Given the description of an element on the screen output the (x, y) to click on. 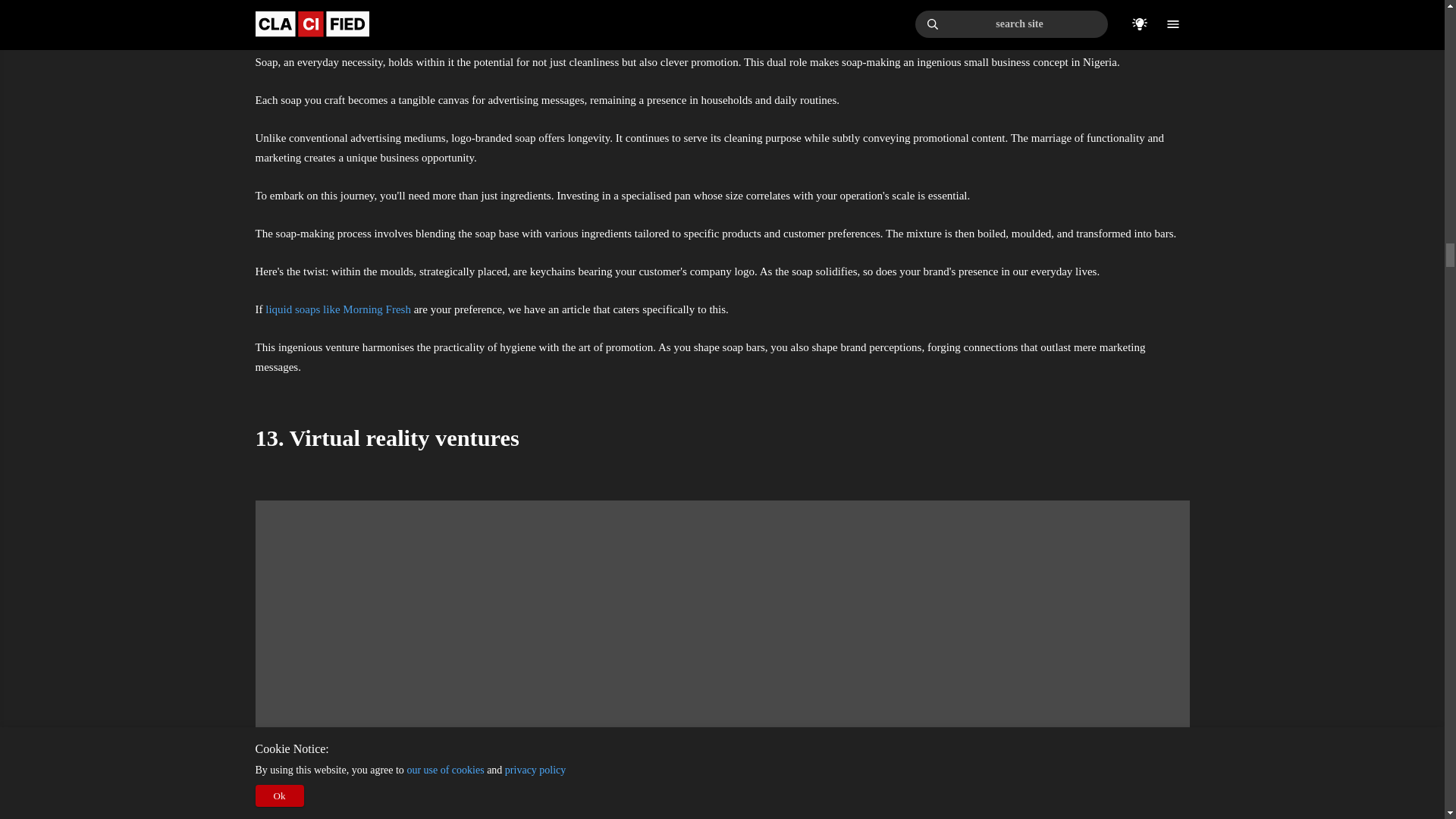
liquid soaps like Morning Fresh (337, 309)
